Given the description of an element on the screen output the (x, y) to click on. 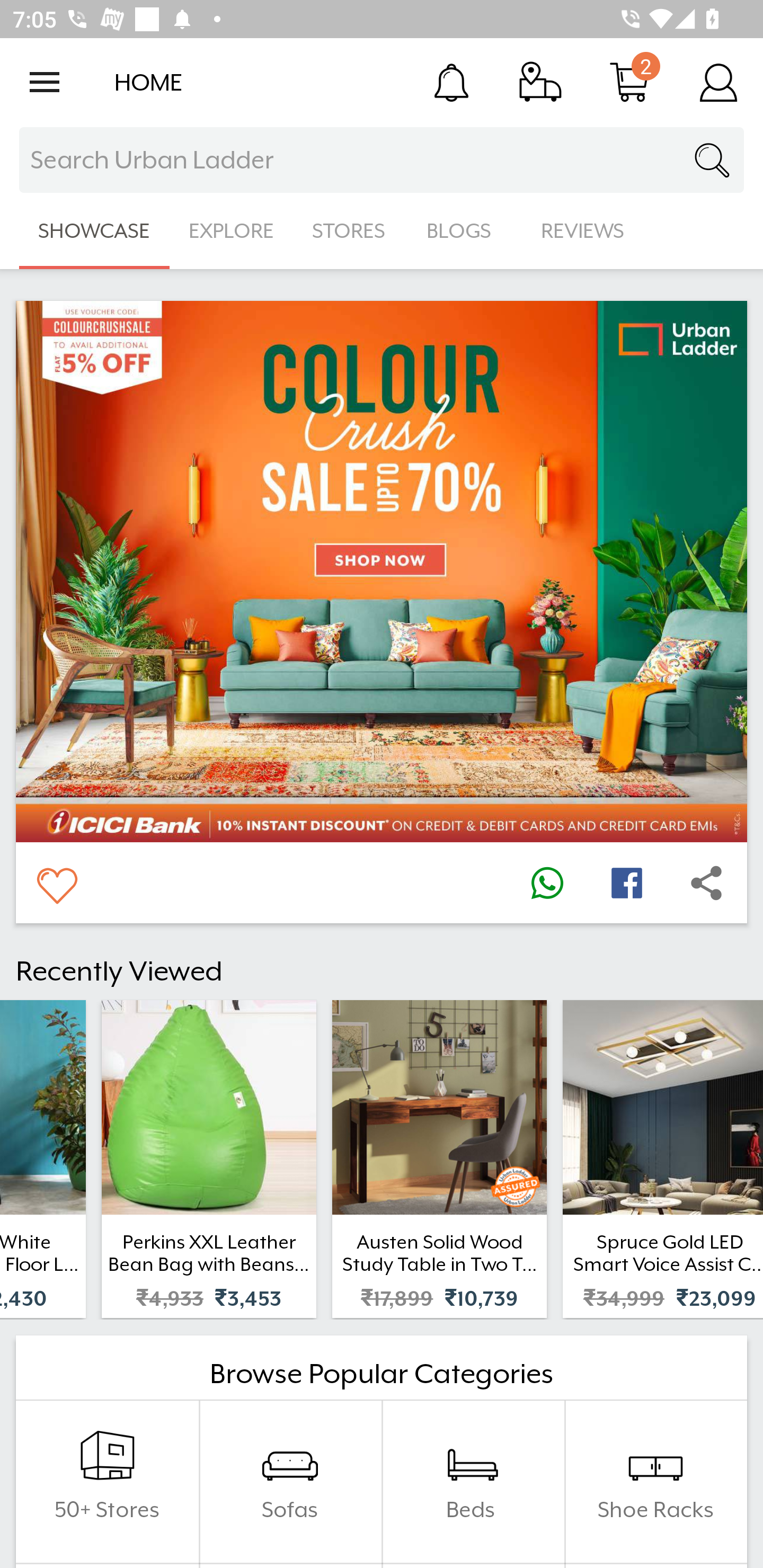
Open navigation drawer (44, 82)
Notification (450, 81)
Track Order (540, 81)
Cart (629, 81)
Account Details (718, 81)
Search Urban Ladder  (381, 159)
SHOWCASE (94, 230)
EXPLORE (230, 230)
STORES (349, 230)
BLOGS (464, 230)
REVIEWS (582, 230)
 (55, 882)
 (547, 882)
 (626, 882)
 (706, 882)
50+ Stores (106, 1481)
Sofas (289, 1481)
Beds  (473, 1481)
Shoe Racks (655, 1481)
